Given the description of an element on the screen output the (x, y) to click on. 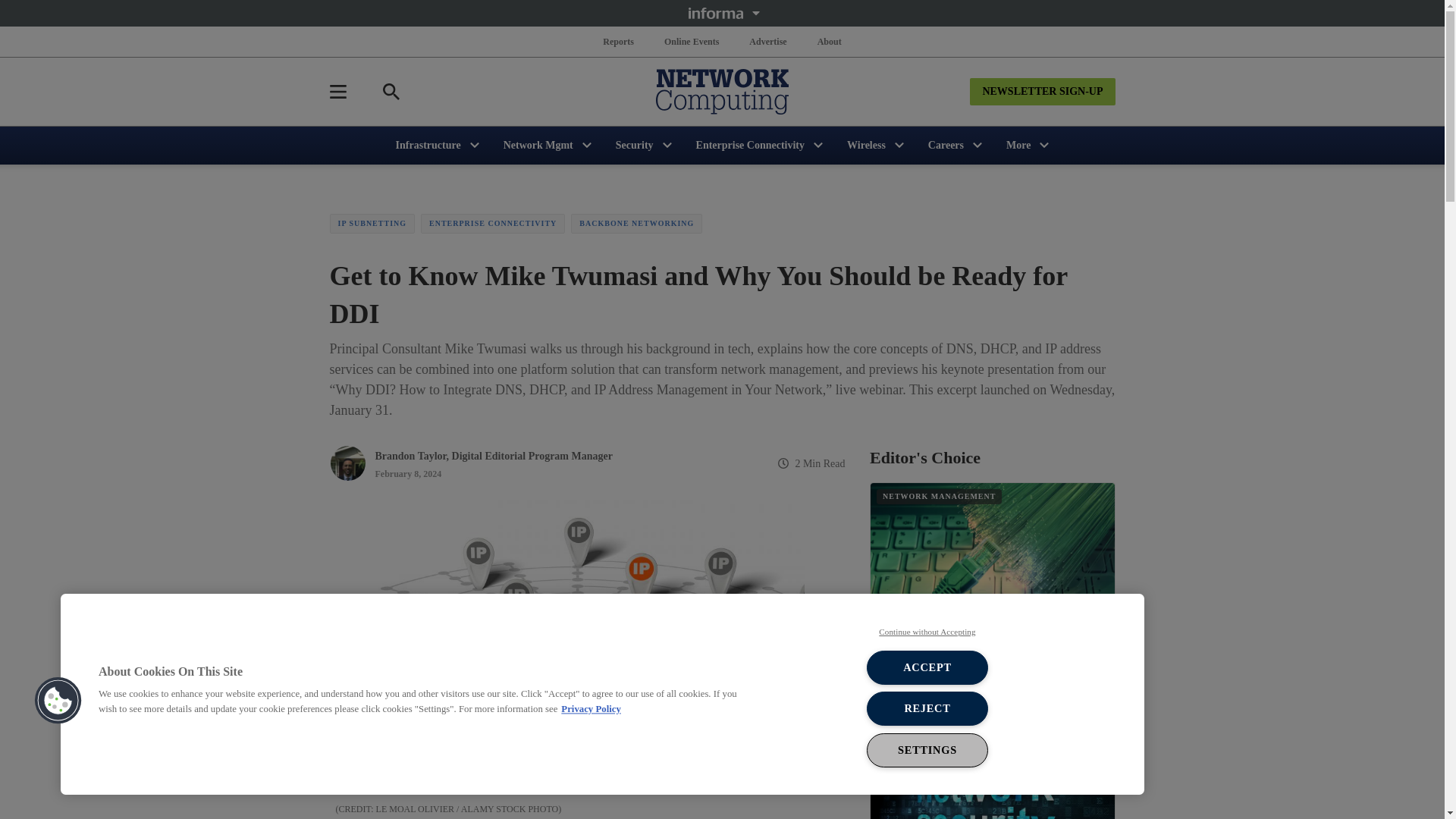
Advertise (767, 41)
About (828, 41)
Reports (618, 41)
Online Events (691, 41)
Network Computing Logo (722, 91)
Picture of Brandon Taylor, Digital Editorial Program Manager (347, 463)
Cookies Button (57, 700)
NEWSLETTER SIGN-UP (1042, 90)
